Given the description of an element on the screen output the (x, y) to click on. 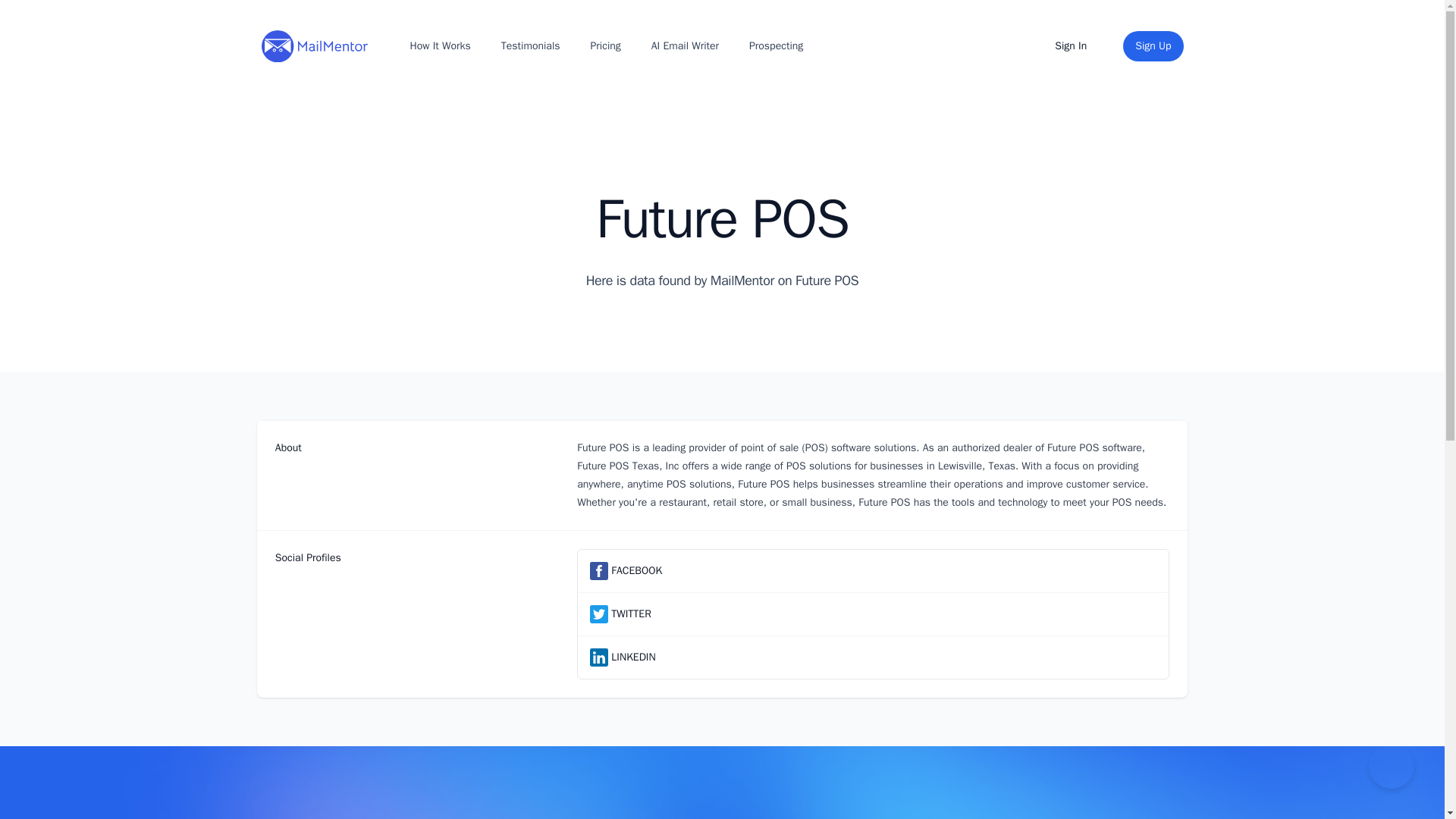
facebook (598, 570)
TWITTER (630, 614)
LINKEDIN (633, 657)
AI Email Writer (685, 46)
Pricing (606, 46)
Sign In (1070, 46)
Sign Up (1152, 46)
Prospecting (775, 46)
linkedin (598, 657)
FACEBOOK (636, 570)
Testimonials (530, 46)
twitter (598, 614)
How It Works (439, 46)
